Given the description of an element on the screen output the (x, y) to click on. 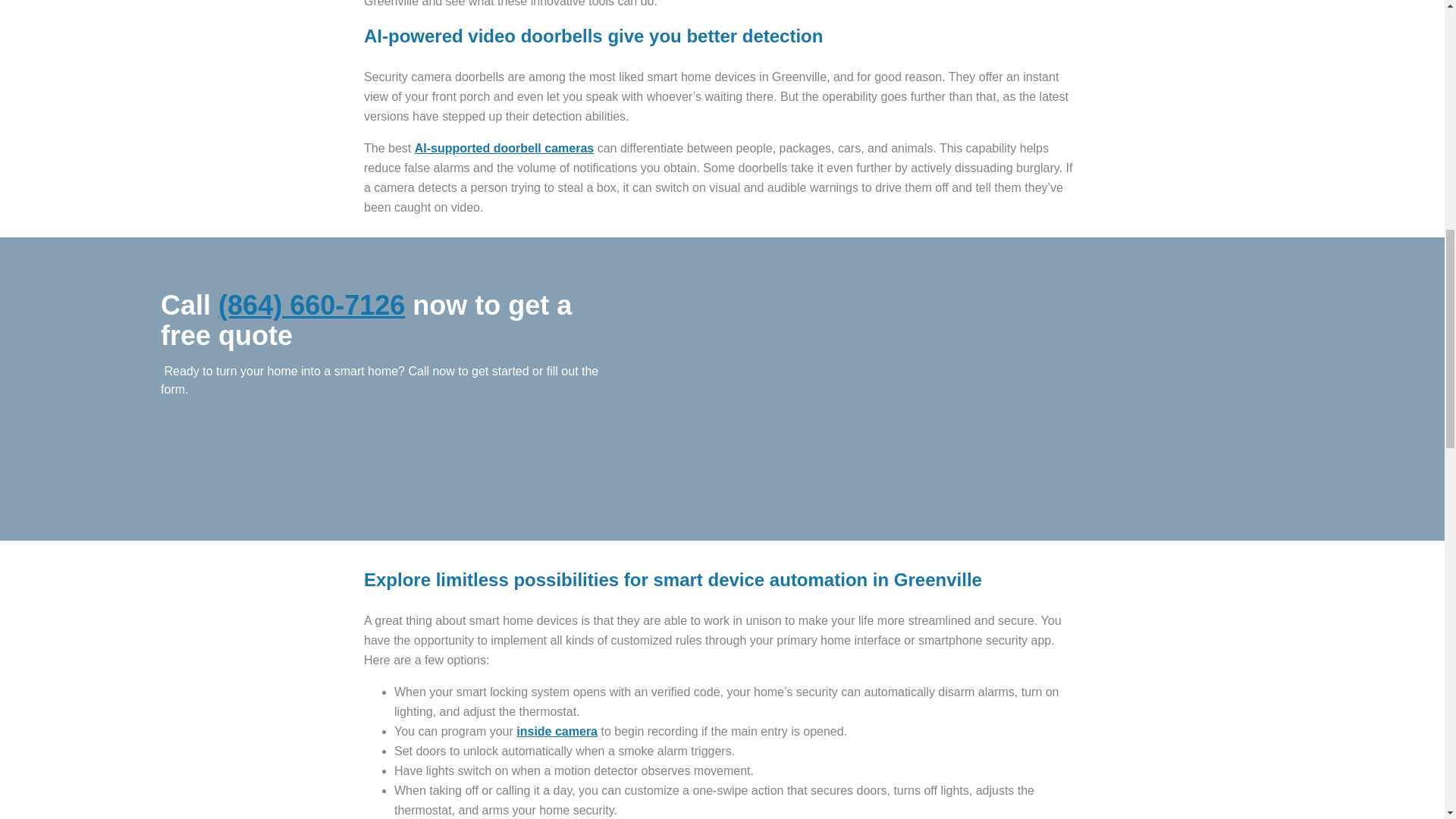
AI-powered doorbell cameras (504, 147)
Indoor camera (556, 730)
AI-supported doorbell cameras (504, 147)
inside camera (556, 730)
